Given the description of an element on the screen output the (x, y) to click on. 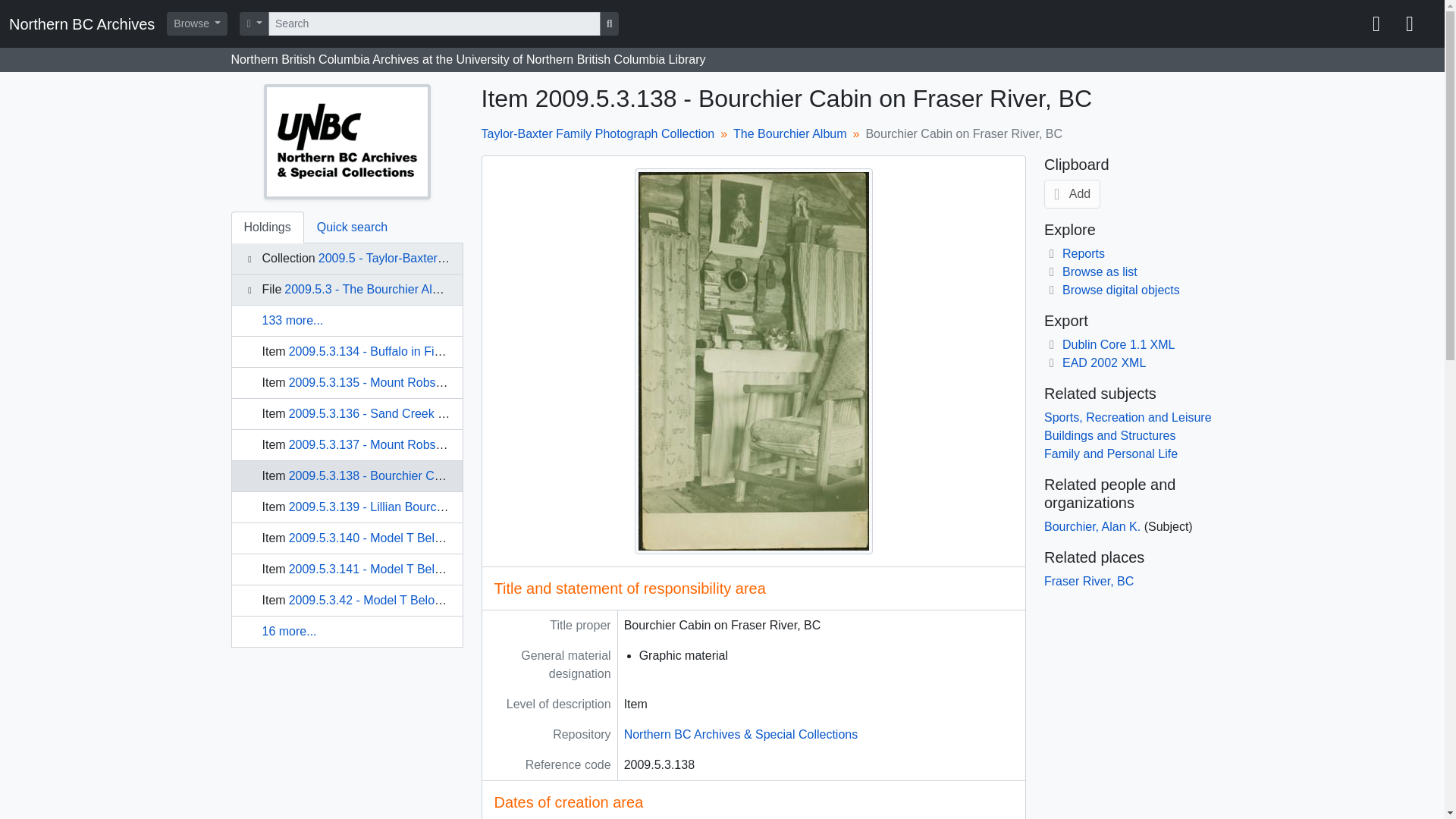
Skip to main content (54, 11)
Browse (197, 24)
Quick search (352, 227)
2009.5.3.135 - Mount Robson, BC (380, 382)
Search options (254, 24)
Home (87, 23)
133 more... (292, 319)
Clipboard (1376, 23)
Holdings (266, 227)
2009.5.3 - The Bourchier Album (369, 288)
2009.5 - Taylor-Baxter Family Photograph Collection (458, 257)
2009.5.3.138 - Bourchier Cabin on Fraser River, BC (427, 475)
2009.5.3.134 - Buffalo in Field (368, 350)
Northern BC Archives (87, 23)
2009.5.3.137 - Mount Robson, BC (380, 444)
